Given the description of an element on the screen output the (x, y) to click on. 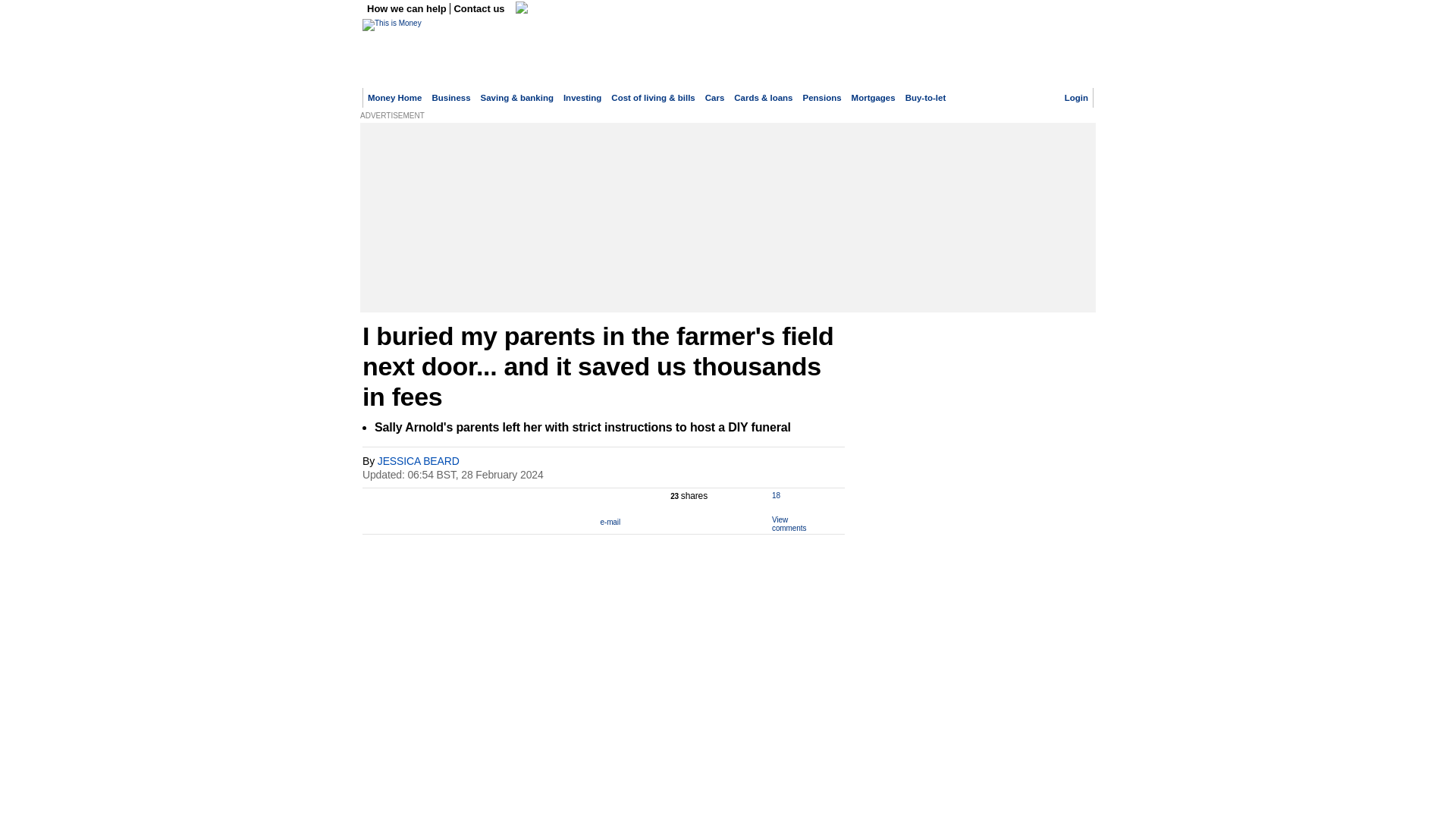
Cars (714, 97)
How we can help (407, 8)
Login (1075, 97)
Business (450, 97)
Mortgages (873, 97)
Buy-to-let (925, 97)
Money Home (395, 97)
Pensions (822, 97)
Investing (582, 97)
Contact us (479, 8)
